Given the description of an element on the screen output the (x, y) to click on. 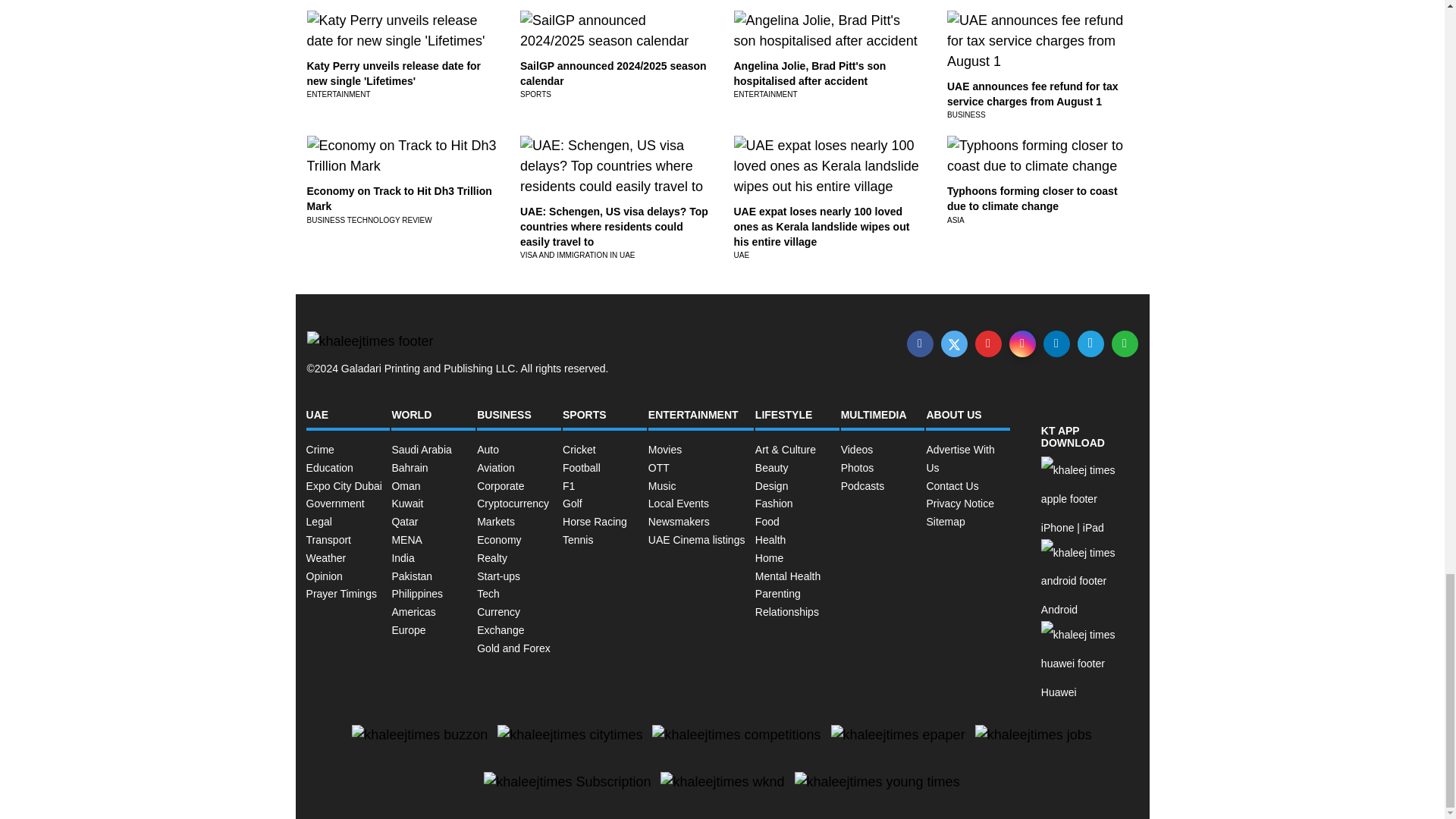
Katy Perry unveils release date for new single 'Lifetimes' (392, 72)
Economy on Track to Hit Dh3 Trillion Mark (398, 198)
Angelina Jolie, Brad Pitt's son hospitalised after accident (809, 72)
Typhoons forming closer to coast due to climate change (1032, 198)
